Given the description of an element on the screen output the (x, y) to click on. 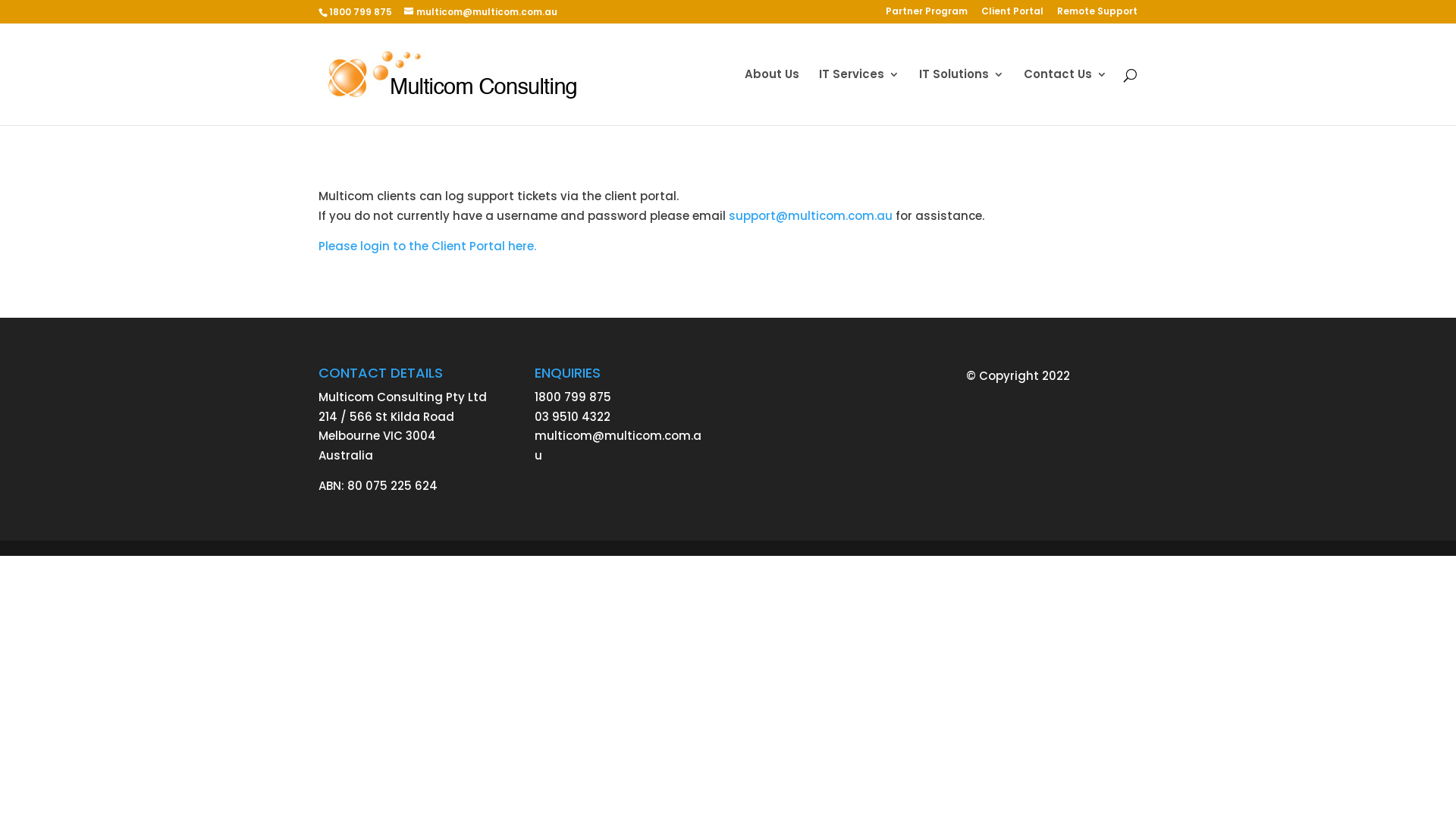
IT Solutions Element type: text (961, 97)
Please login to the Client Portal here. Element type: text (427, 246)
multicom@multicom.com.au Element type: text (480, 11)
Contact Us Element type: text (1065, 97)
Remote Support Element type: text (1097, 14)
support@multicom.com.au Element type: text (810, 215)
multicom@multicom.com.au Element type: text (617, 445)
Client Portal Element type: text (1012, 14)
IT Services Element type: text (859, 97)
Partner Program Element type: text (926, 14)
About Us Element type: text (771, 97)
